Given the description of an element on the screen output the (x, y) to click on. 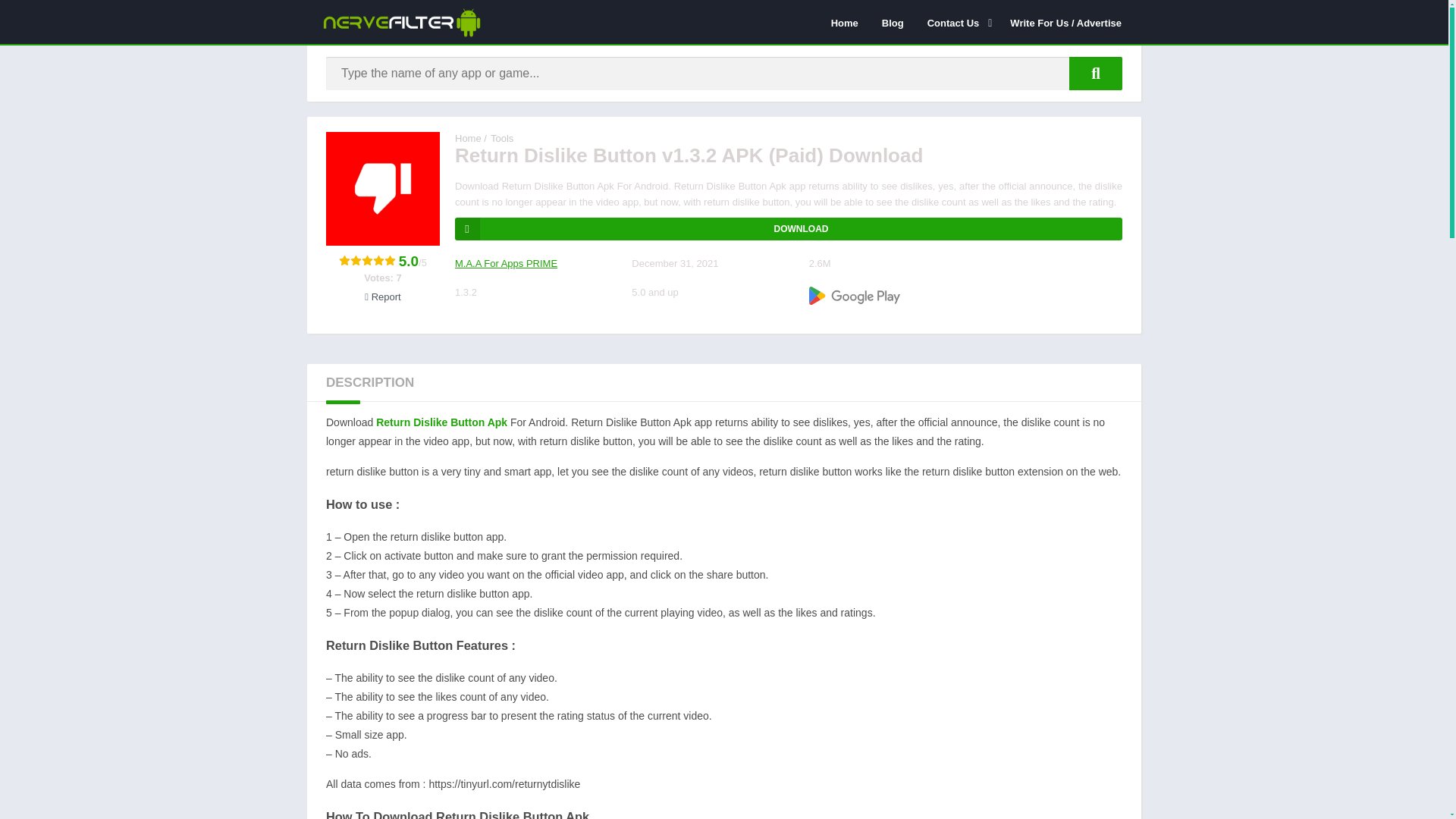
M.A.A For Apps PRIME (505, 263)
Tools (501, 138)
Contact Us (956, 22)
Return Dislike Button Apk (440, 422)
Blog (892, 22)
Type the name of any app or game... (1095, 73)
Download (788, 228)
Home (844, 22)
DOWNLOAD (788, 228)
NerveFilter: Download APK Apps and Games MODs (467, 138)
Home (467, 138)
